Given the description of an element on the screen output the (x, y) to click on. 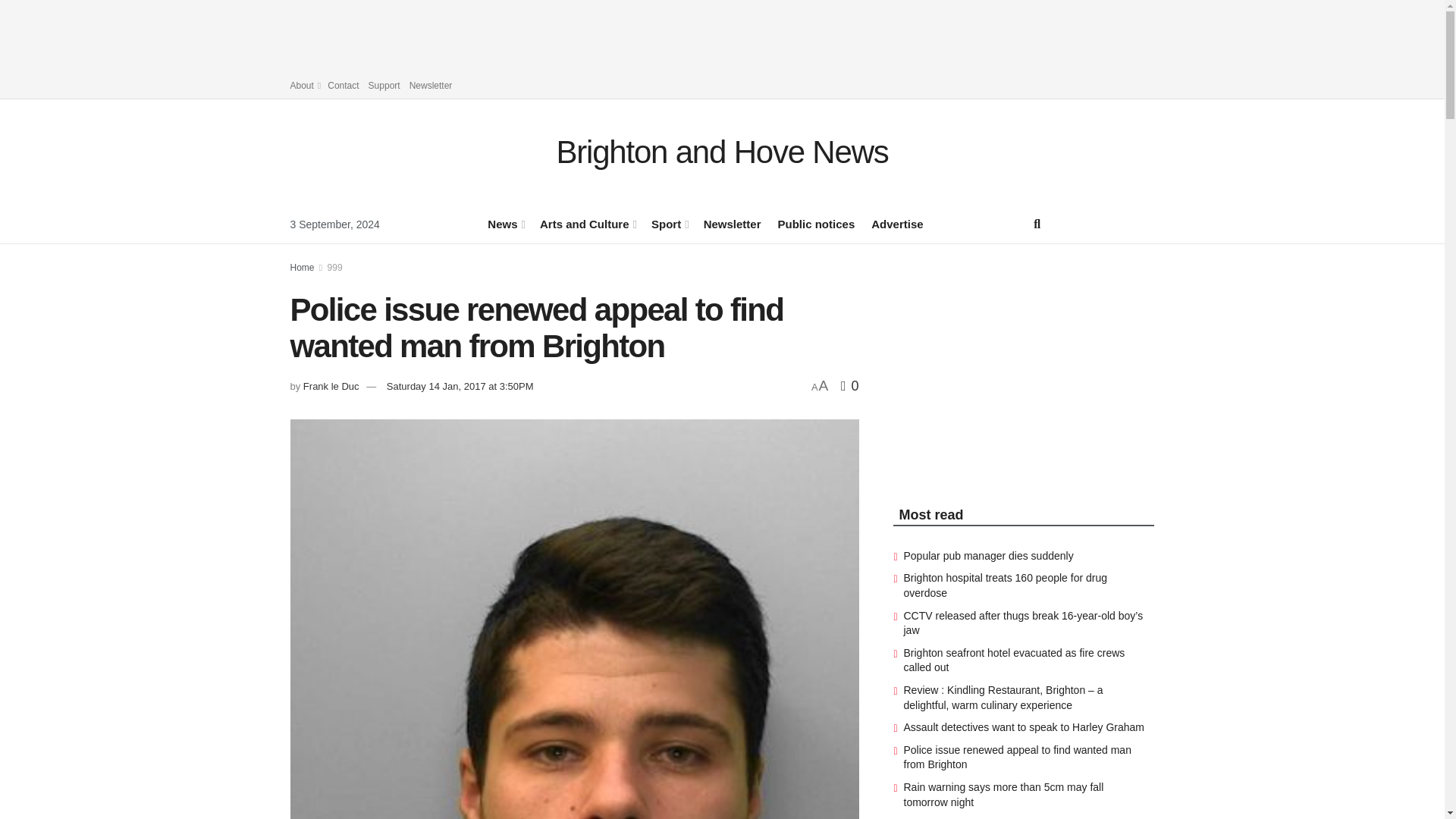
Support (384, 85)
News (504, 223)
Advertise (896, 223)
About (303, 85)
Sport (668, 223)
Newsletter (732, 223)
Public notices (816, 223)
Brighton and Hove News (722, 152)
Contact (342, 85)
Arts and Culture (587, 223)
